Given the description of an element on the screen output the (x, y) to click on. 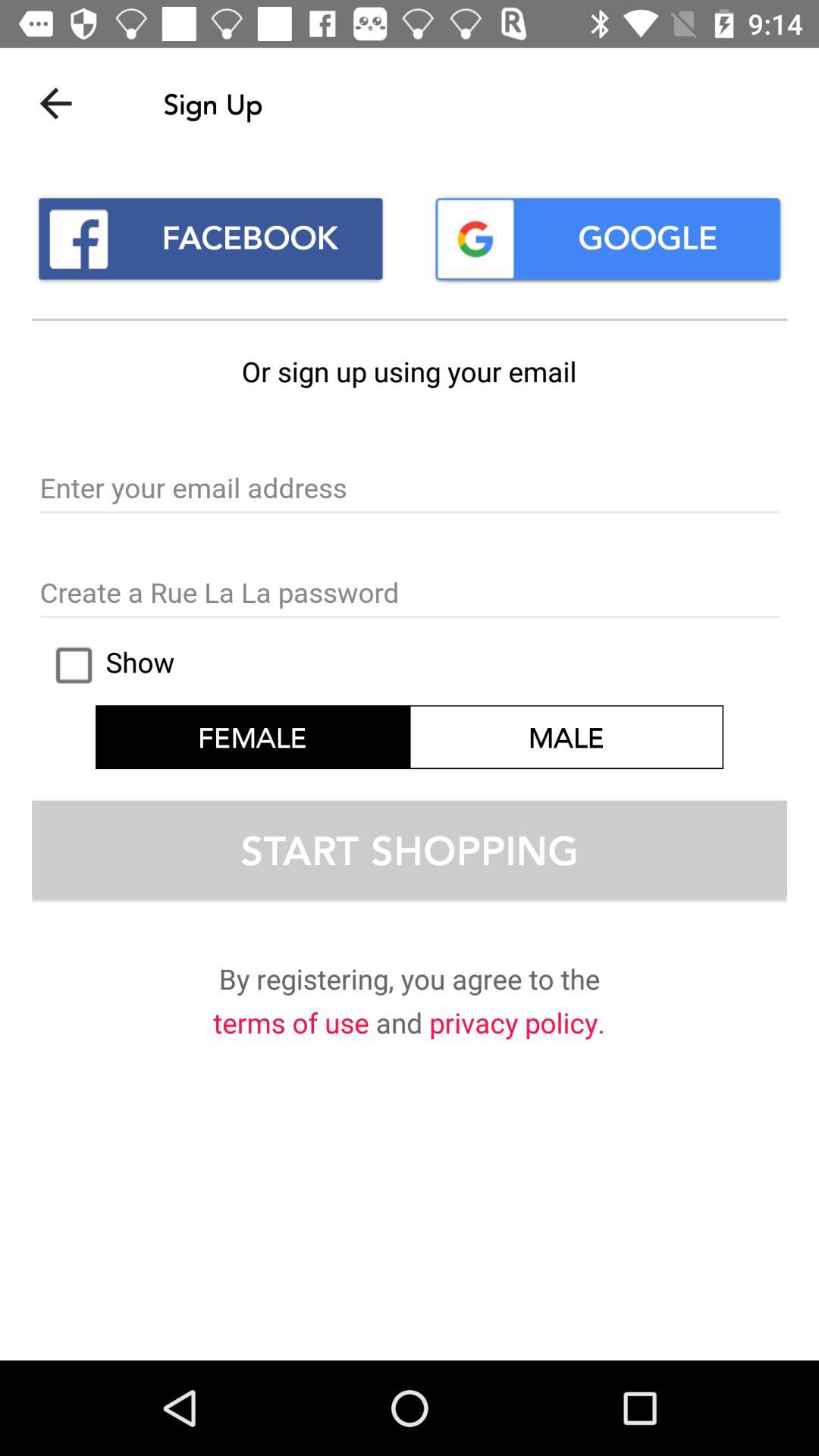
jump to facebook icon (210, 238)
